Given the description of an element on the screen output the (x, y) to click on. 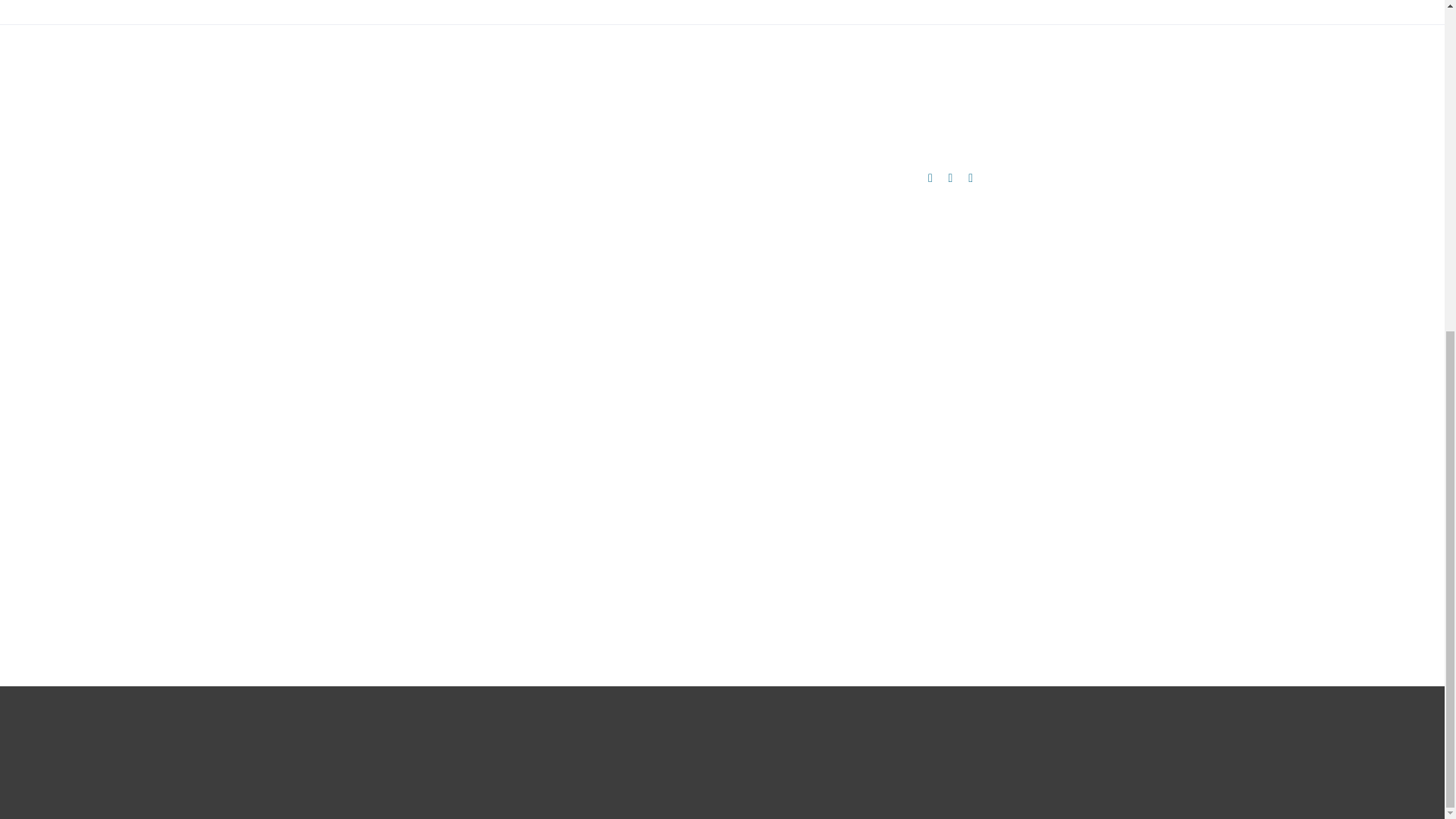
Technical Data Sheet (948, 86)
Product Categories (309, 499)
Protection (444, 557)
Technical Data Sheet (948, 86)
All Products (447, 470)
Material Satety Data Sheet (949, 99)
Repair (437, 587)
Cleaners (442, 499)
Home (286, 470)
Spray Paints (448, 615)
Lubricants (444, 528)
Contact Us (294, 557)
